Given the description of an element on the screen output the (x, y) to click on. 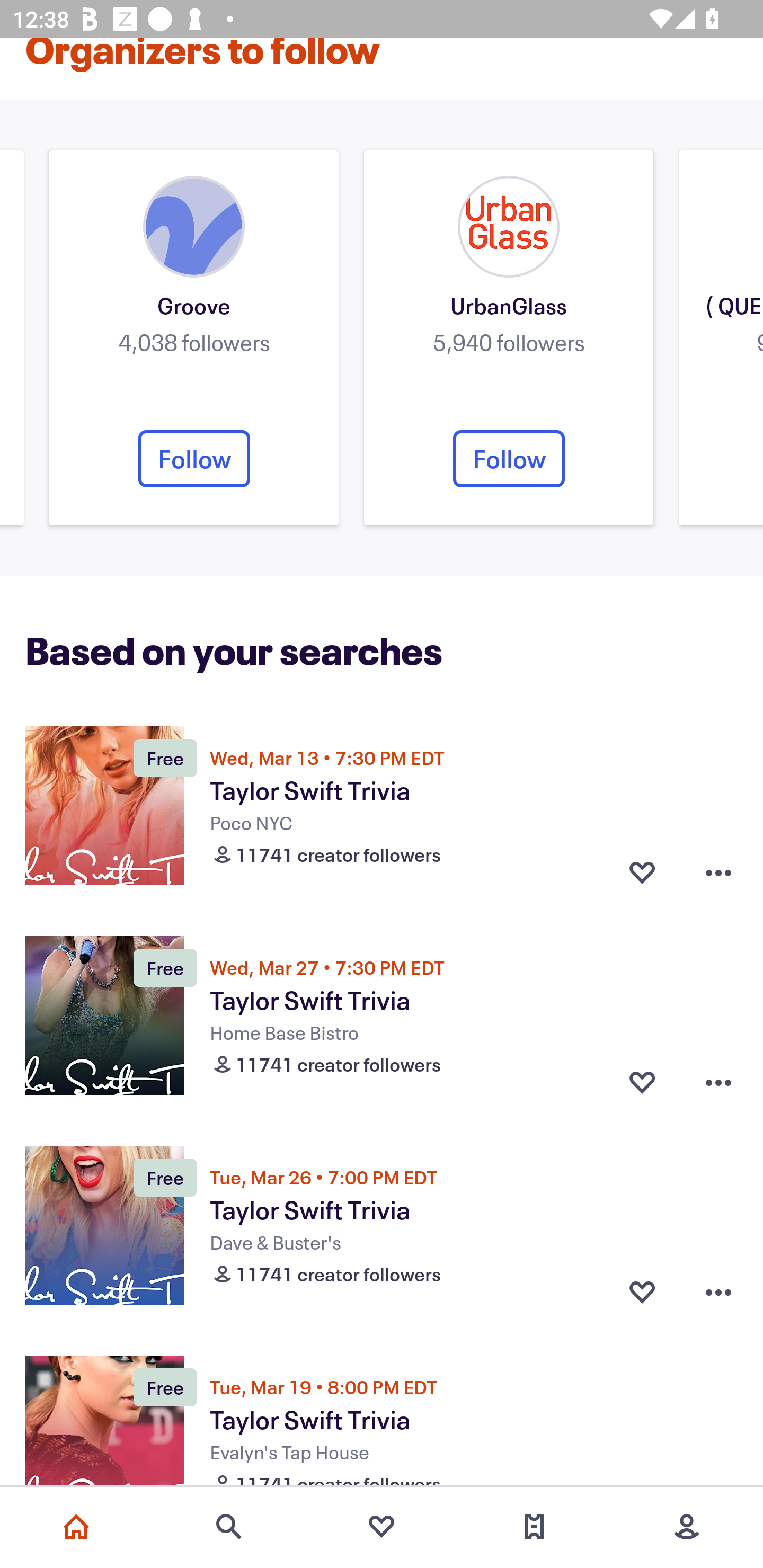
Follow Organizer's follow button (194, 458)
Follow Organizer's follow button (508, 458)
Favorite button (642, 872)
Overflow menu button (718, 872)
Favorite button (642, 1082)
Overflow menu button (718, 1082)
Favorite button (642, 1291)
Overflow menu button (718, 1291)
Home (76, 1526)
Search events (228, 1526)
Favorites (381, 1526)
Tickets (533, 1526)
More (686, 1526)
